Given the description of an element on the screen output the (x, y) to click on. 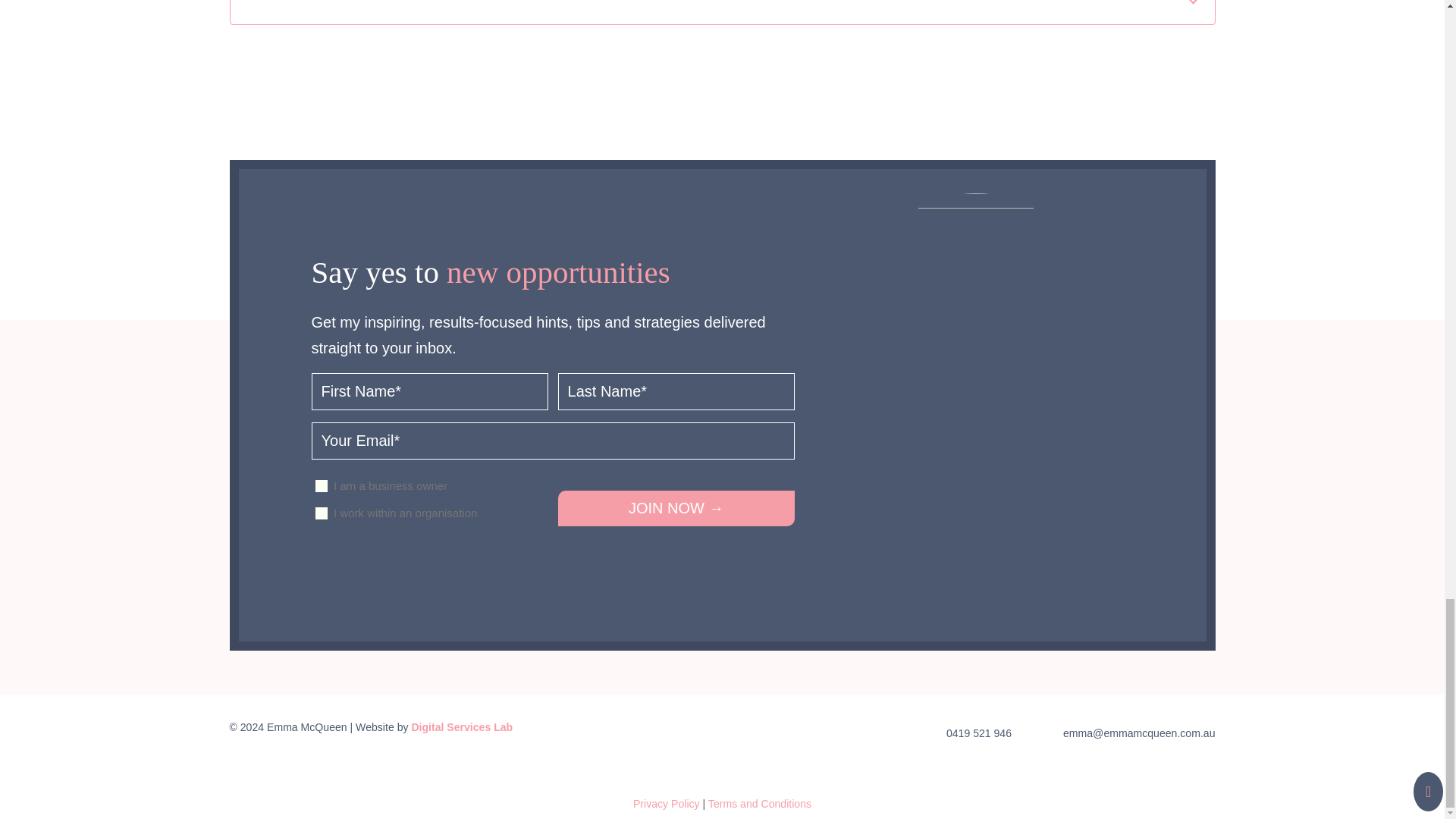
0419 521 946 (978, 733)
Digital Services Lab (461, 727)
Small Business Owner (321, 485)
Privacy Policy (666, 803)
Terms and Conditions (758, 803)
Organisation (321, 512)
